Given the description of an element on the screen output the (x, y) to click on. 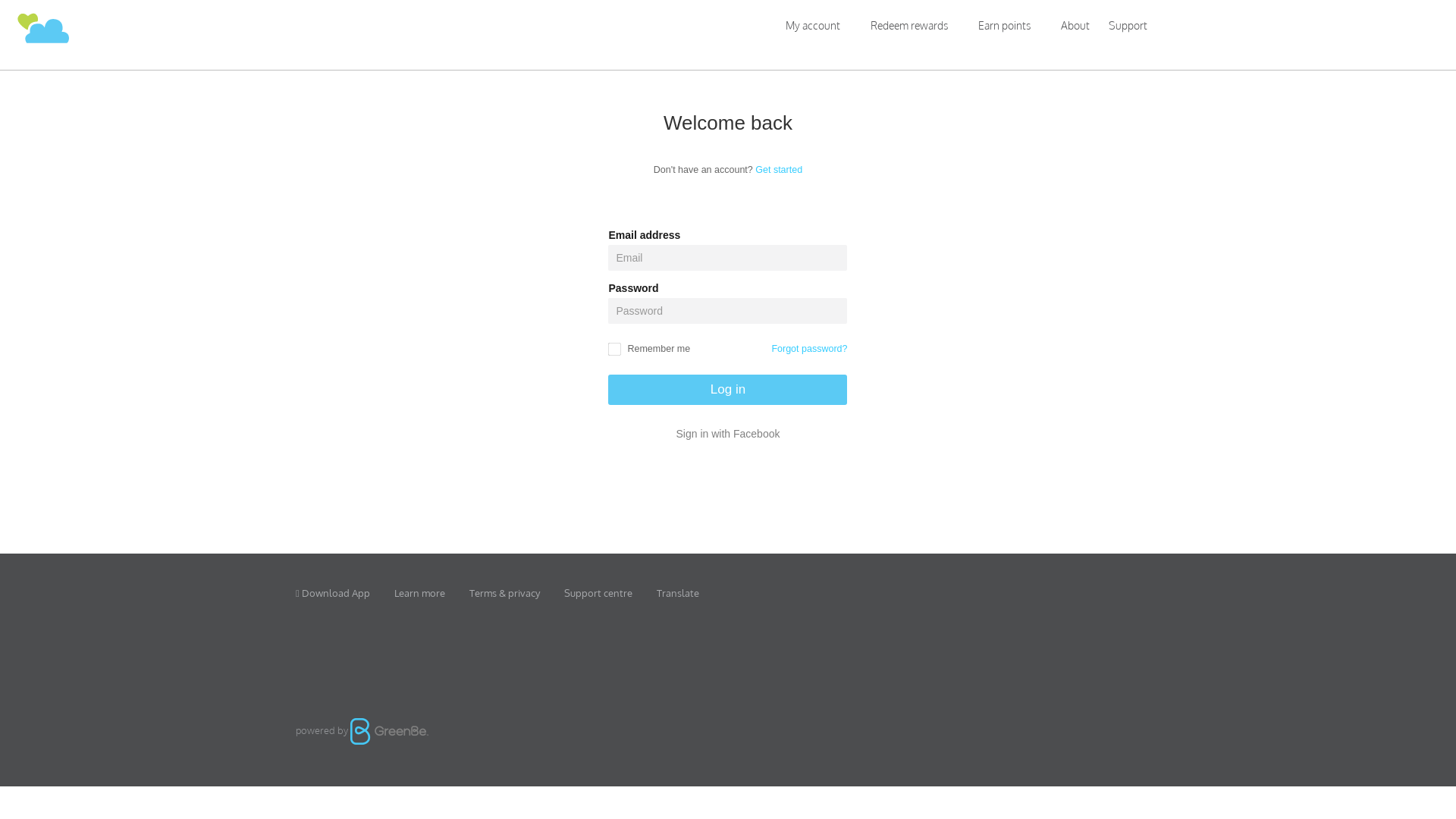
My account Element type: text (812, 25)
Sign in with Facebook Element type: text (727, 433)
Learn more Element type: text (419, 593)
About Element type: text (1074, 25)
Get started Element type: text (778, 169)
Support centre Element type: text (598, 593)
Log in Element type: text (727, 389)
Forgot password? Element type: text (809, 348)
Support Element type: text (1127, 25)
Terms & privacy Element type: text (504, 593)
Earn points Element type: text (1004, 25)
Redeem rewards Element type: text (909, 25)
